Given the description of an element on the screen output the (x, y) to click on. 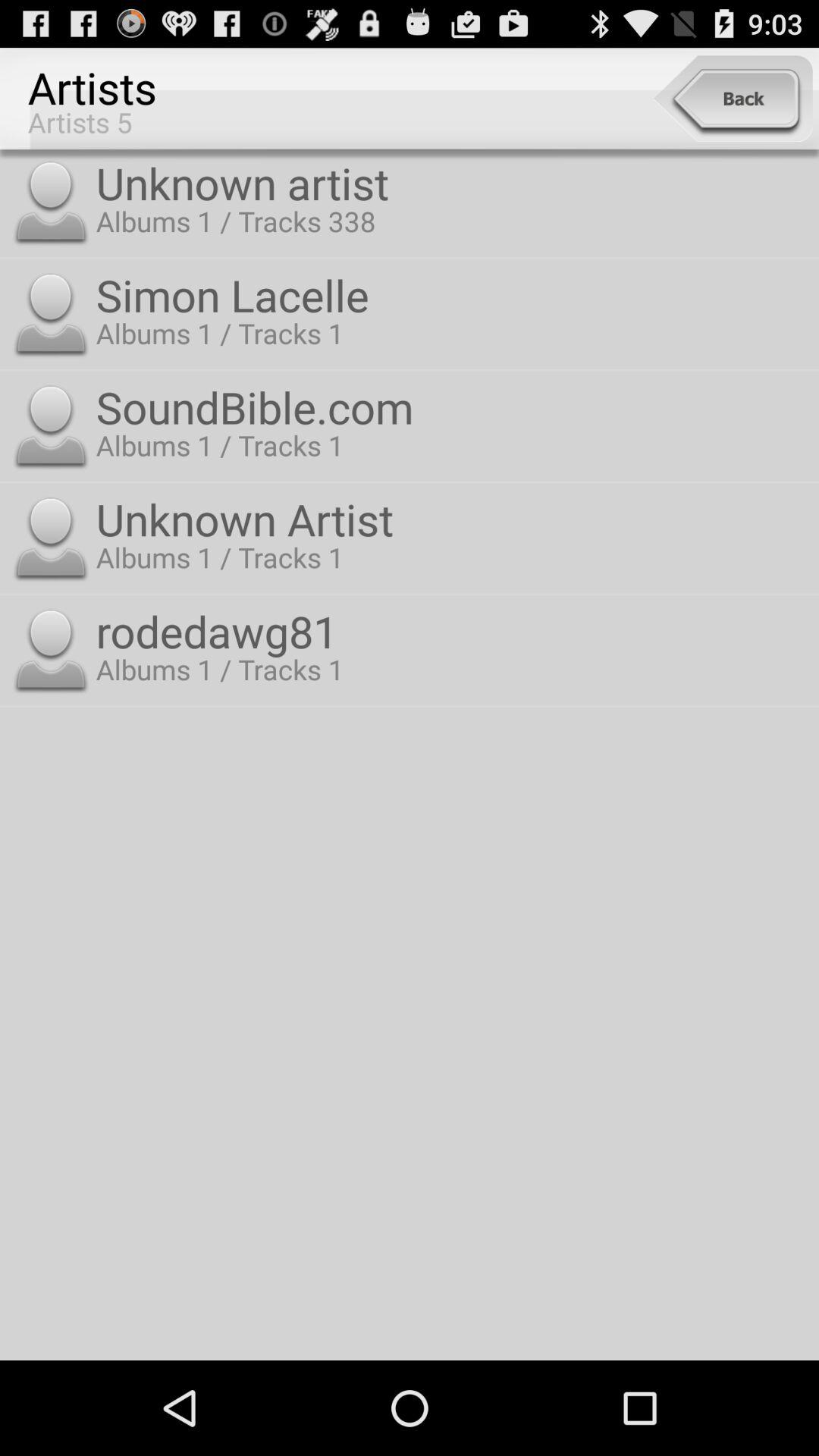
go back (732, 98)
